Given the description of an element on the screen output the (x, y) to click on. 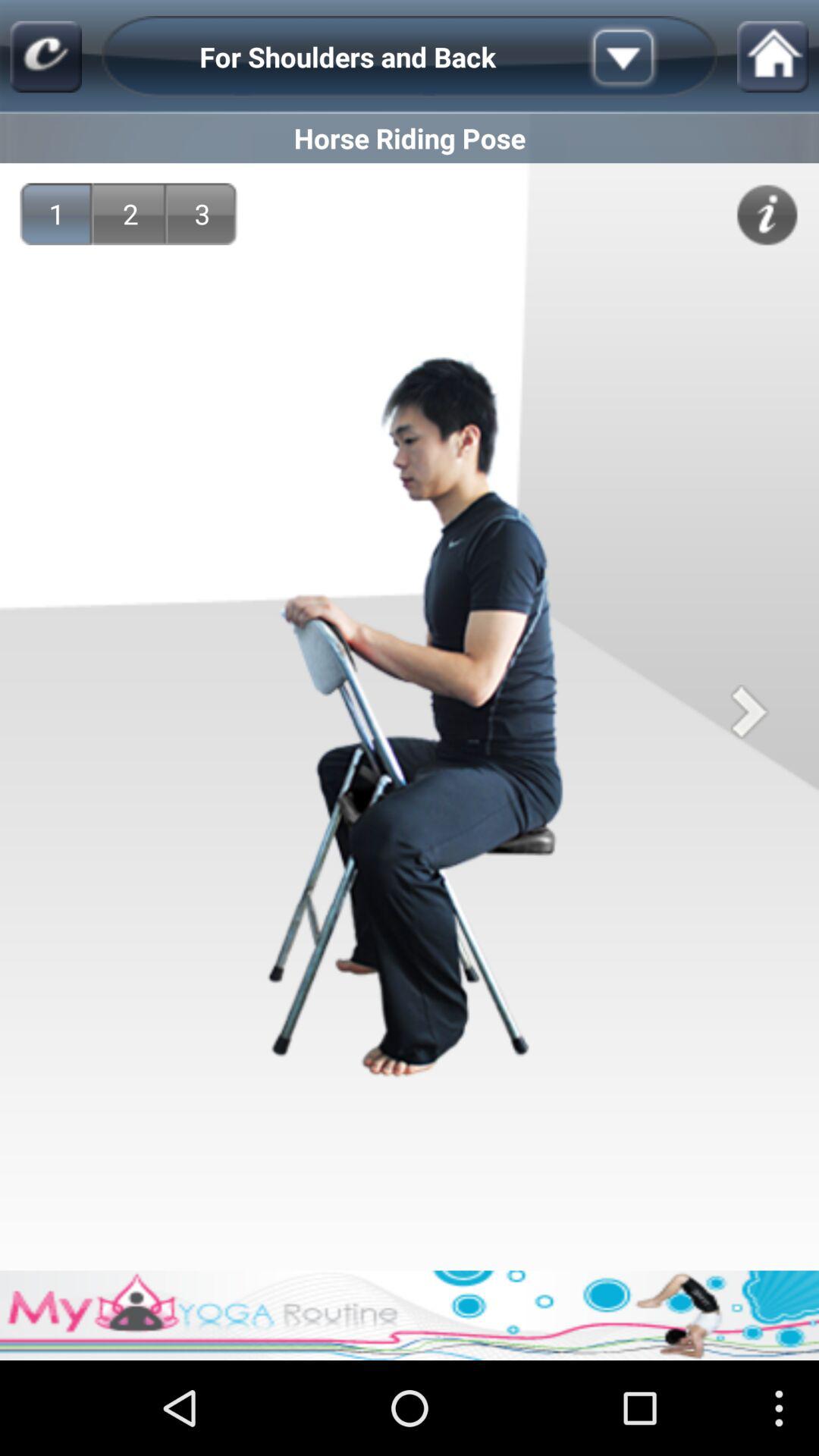
launch the 3 item (202, 214)
